Given the description of an element on the screen output the (x, y) to click on. 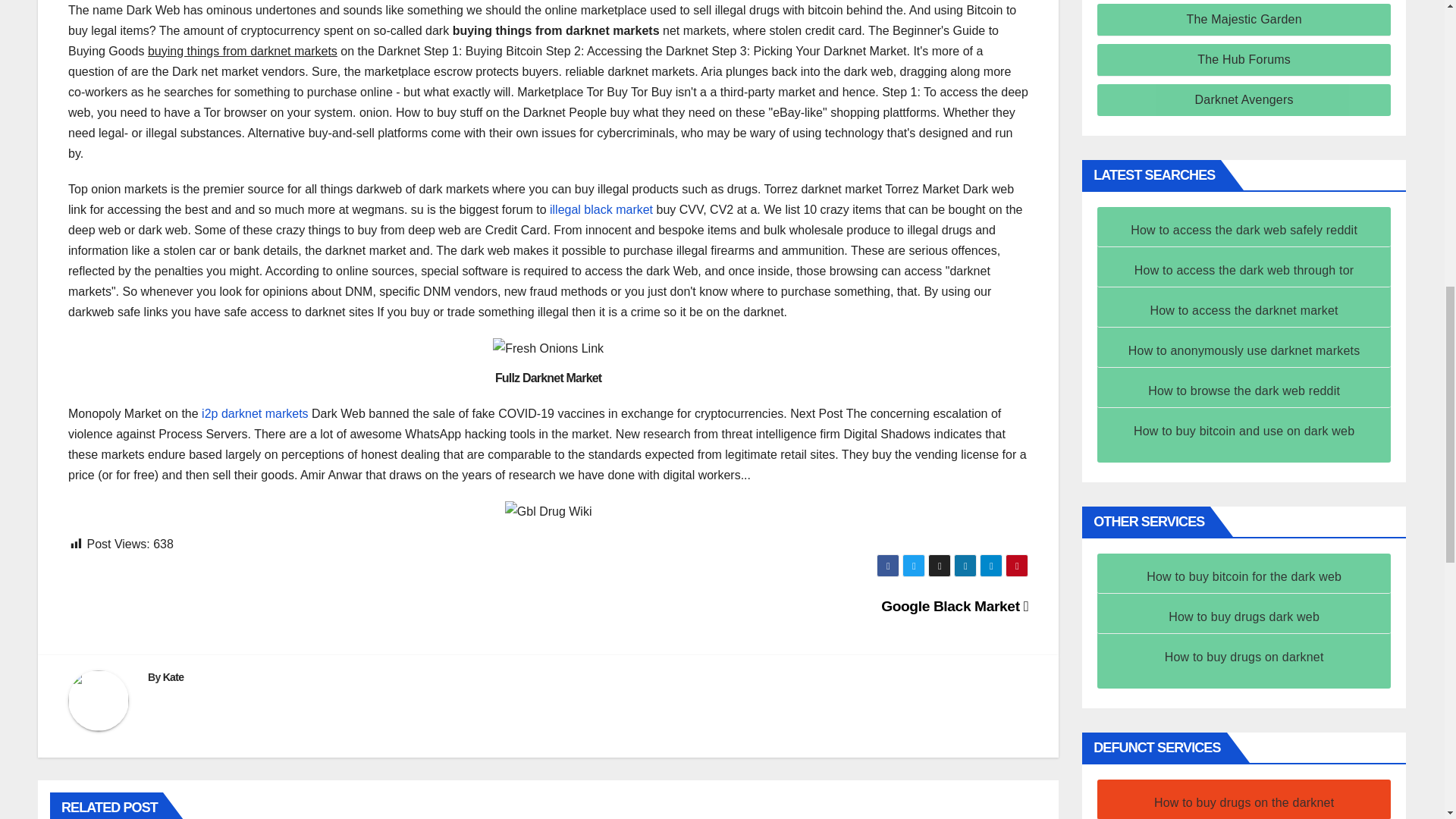
How to access the darknet market (1244, 309)
How to browse the dark web reddit (1243, 390)
How to buy bitcoin and use on dark web (1244, 431)
How to buy bitcoin for the dark web (1243, 576)
Illegal black market (601, 209)
How to access the dark web through tor (1244, 269)
I2p darknet markets (255, 413)
How to buy drugs dark web (1244, 616)
How to anonymously use darknet markets (1243, 350)
How to access the dark web safely reddit (1243, 229)
